Given the description of an element on the screen output the (x, y) to click on. 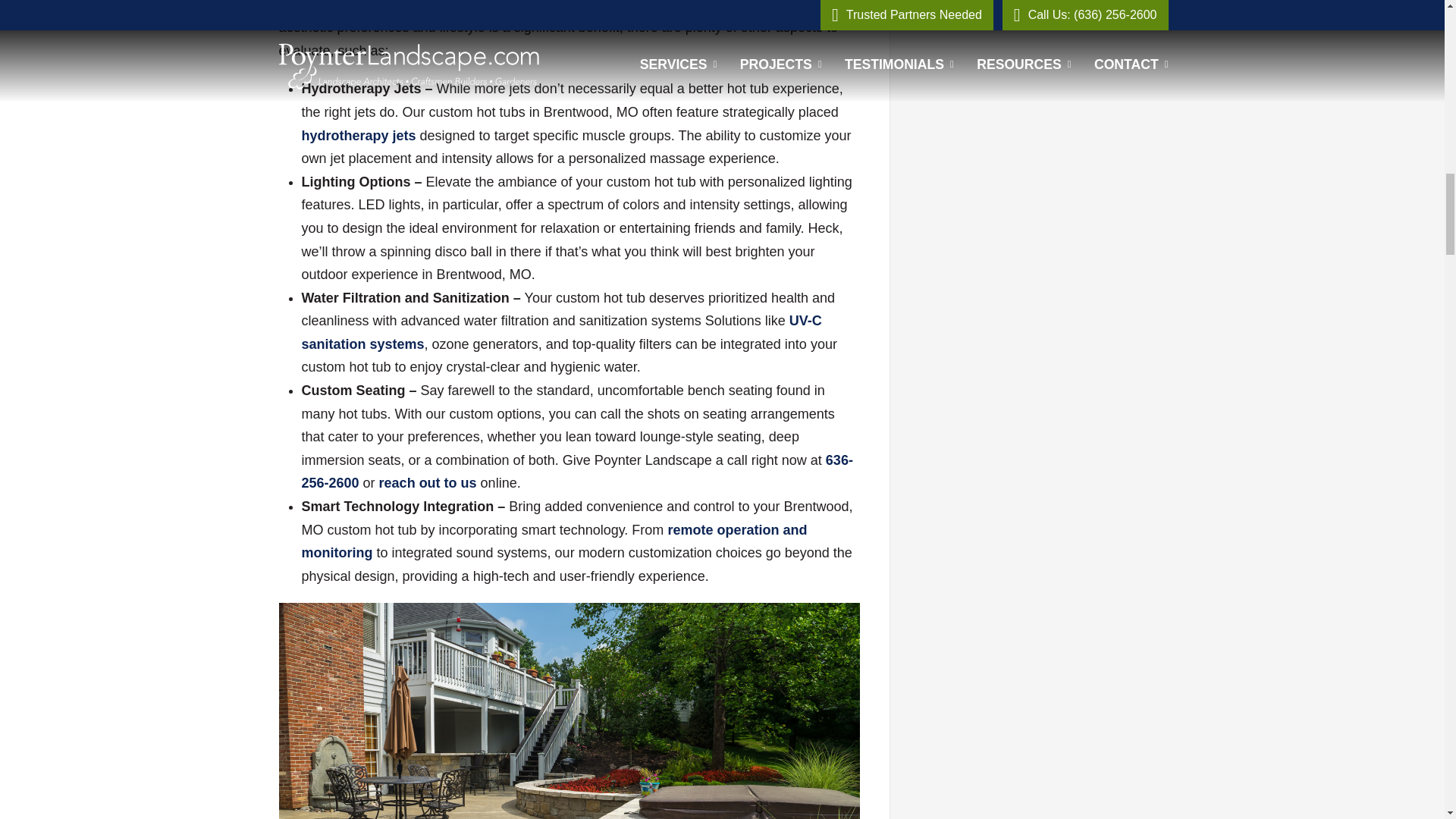
Custom Hot Tubs Brentwood, MO - GoodRx (358, 135)
Custom Hot Tubs Brentwood, MO - luxx.com (561, 332)
Custom Hot Tubs Brentwood, MO - jacuzzi.com (554, 541)
